Given the description of an element on the screen output the (x, y) to click on. 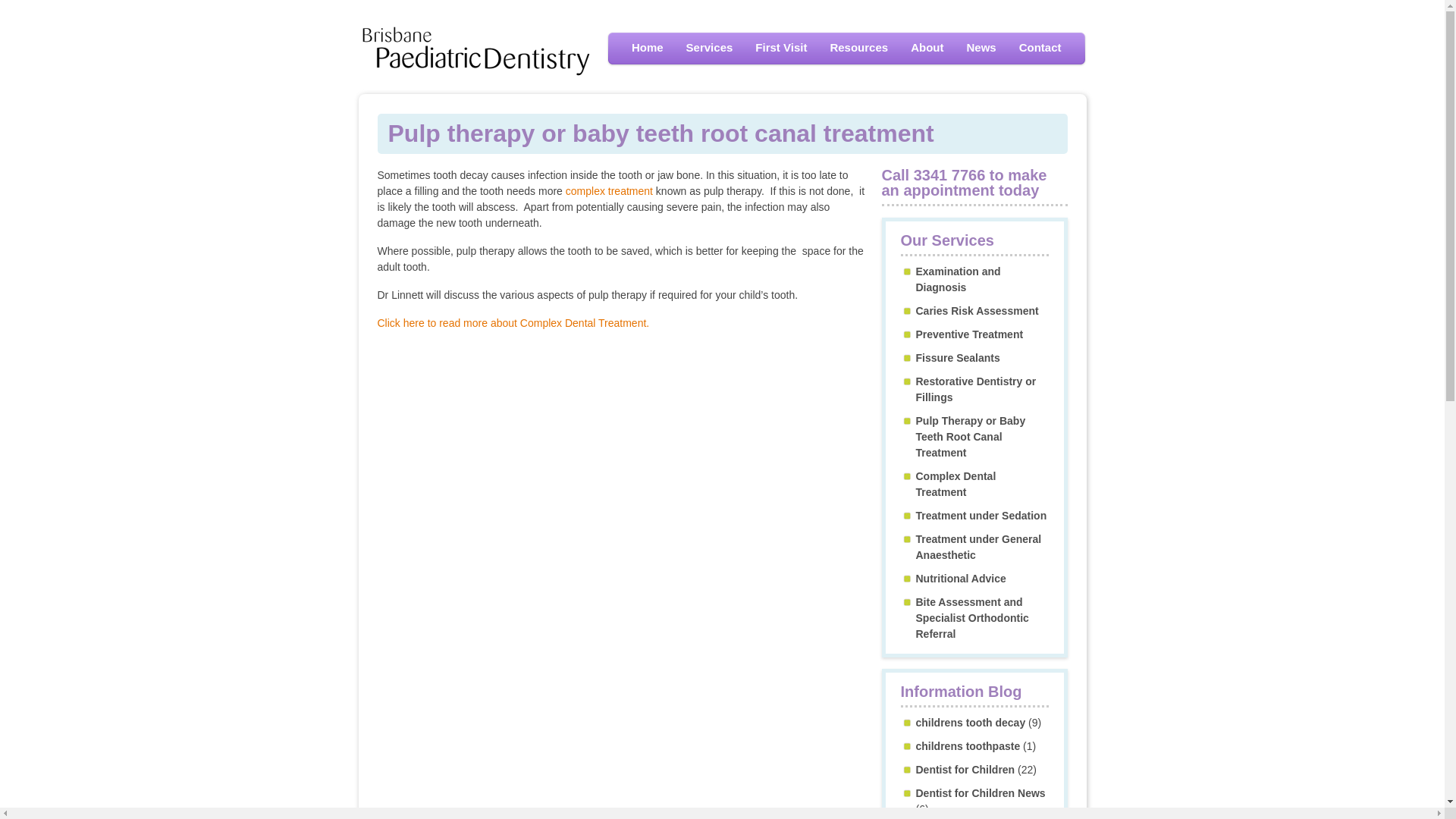
Fissure Sealants Element type: text (958, 357)
complex treatment Element type: text (608, 191)
Preventive Treatment Element type: text (969, 334)
Treatment under General Anaesthetic Element type: text (978, 547)
Restorative Dentistry or Fillings Element type: text (976, 389)
Examination and Diagnosis Element type: text (958, 279)
First Visit Element type: text (780, 47)
Pulp Therapy or Baby Teeth Root Canal Treatment Element type: text (971, 436)
Click here to read more about Complex Dental Treatment. Element type: text (513, 322)
childrens tooth decay Element type: text (971, 722)
Caries Risk Assessment Element type: text (977, 310)
Dentist for Children News Element type: text (980, 793)
Resources Element type: text (858, 47)
About Element type: text (926, 47)
Contact Element type: text (1040, 47)
childrens toothpaste Element type: text (968, 746)
Dentist for Children Element type: text (965, 769)
Bite Assessment and Specialist Orthodontic Referral Element type: text (972, 618)
Home Element type: text (647, 47)
Services Element type: text (709, 47)
Treatment under Sedation Element type: text (981, 515)
Complex Dental Treatment Element type: text (956, 484)
News Element type: text (980, 47)
Nutritional Advice Element type: text (961, 578)
